Given the description of an element on the screen output the (x, y) to click on. 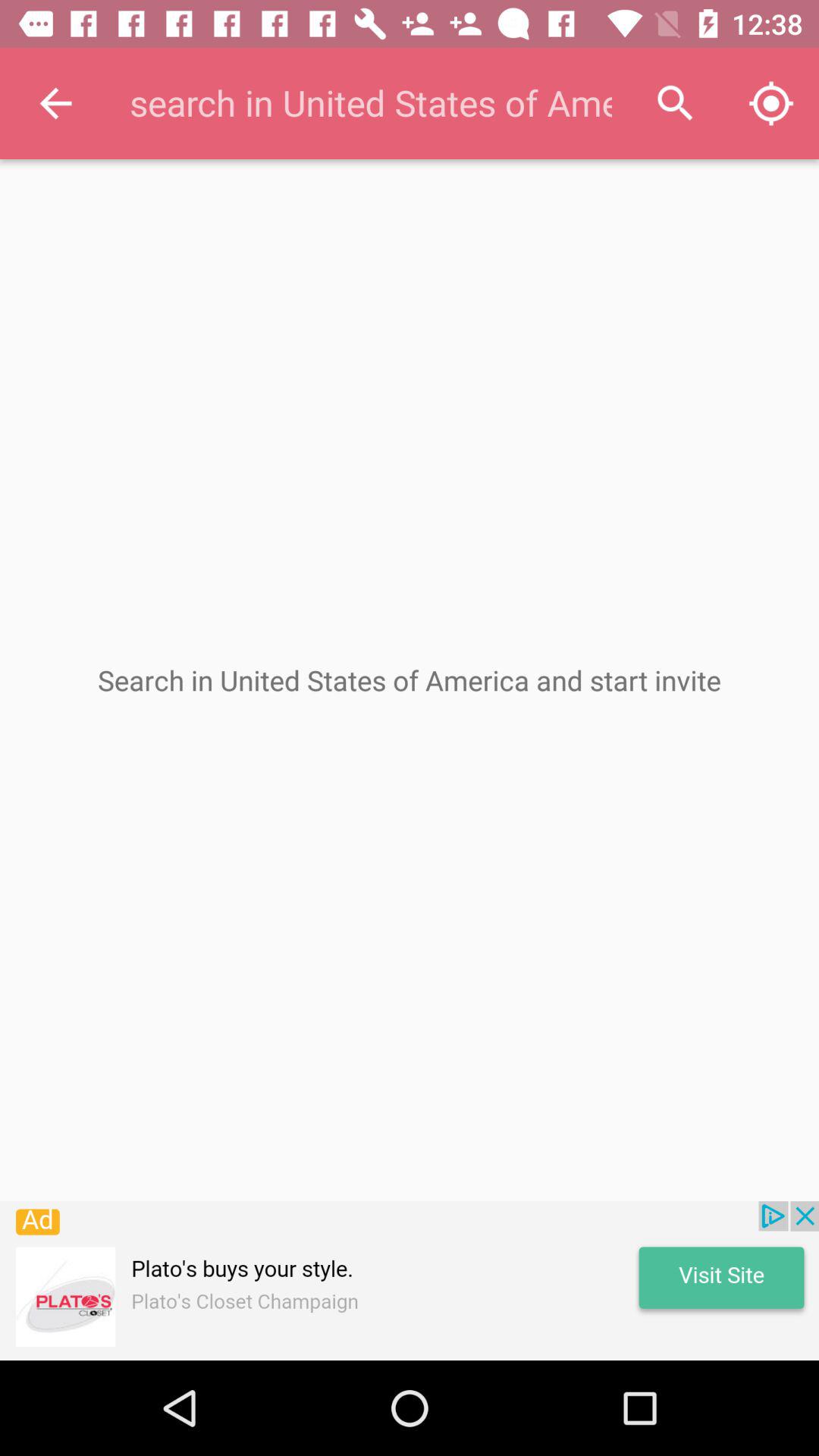
search in united states (369, 103)
